Given the description of an element on the screen output the (x, y) to click on. 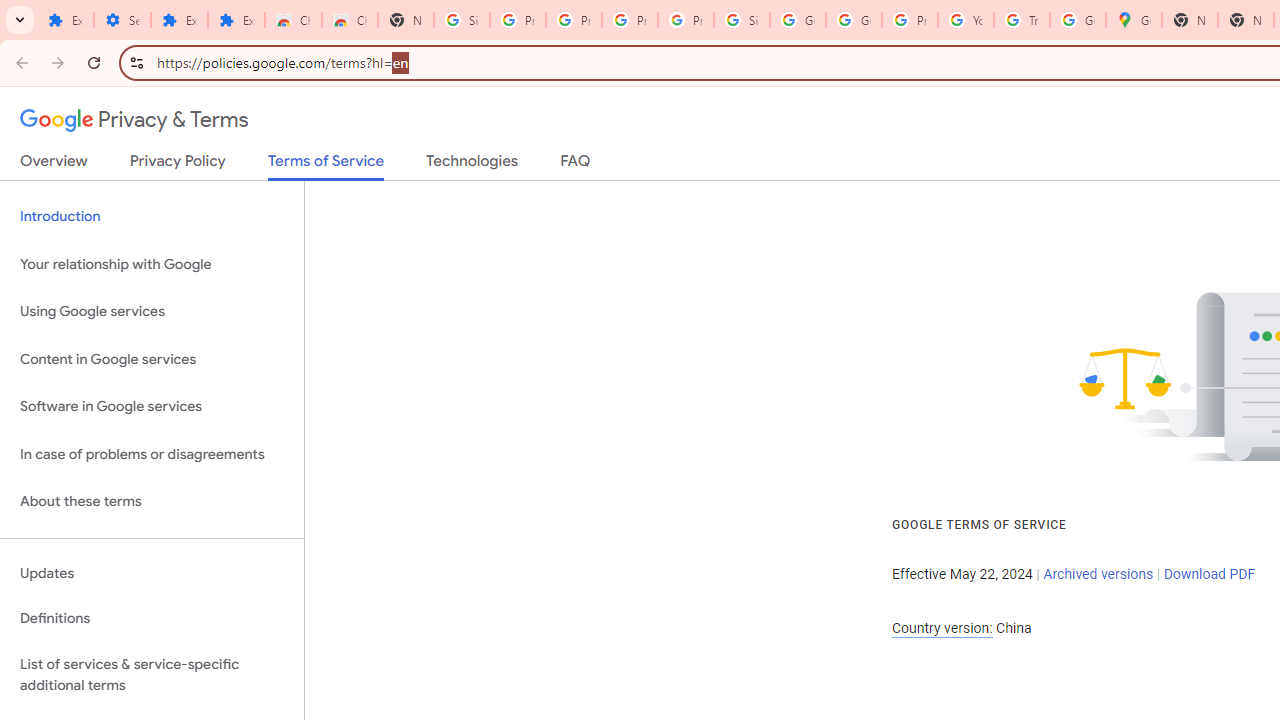
About these terms (152, 502)
